Given the description of an element on the screen output the (x, y) to click on. 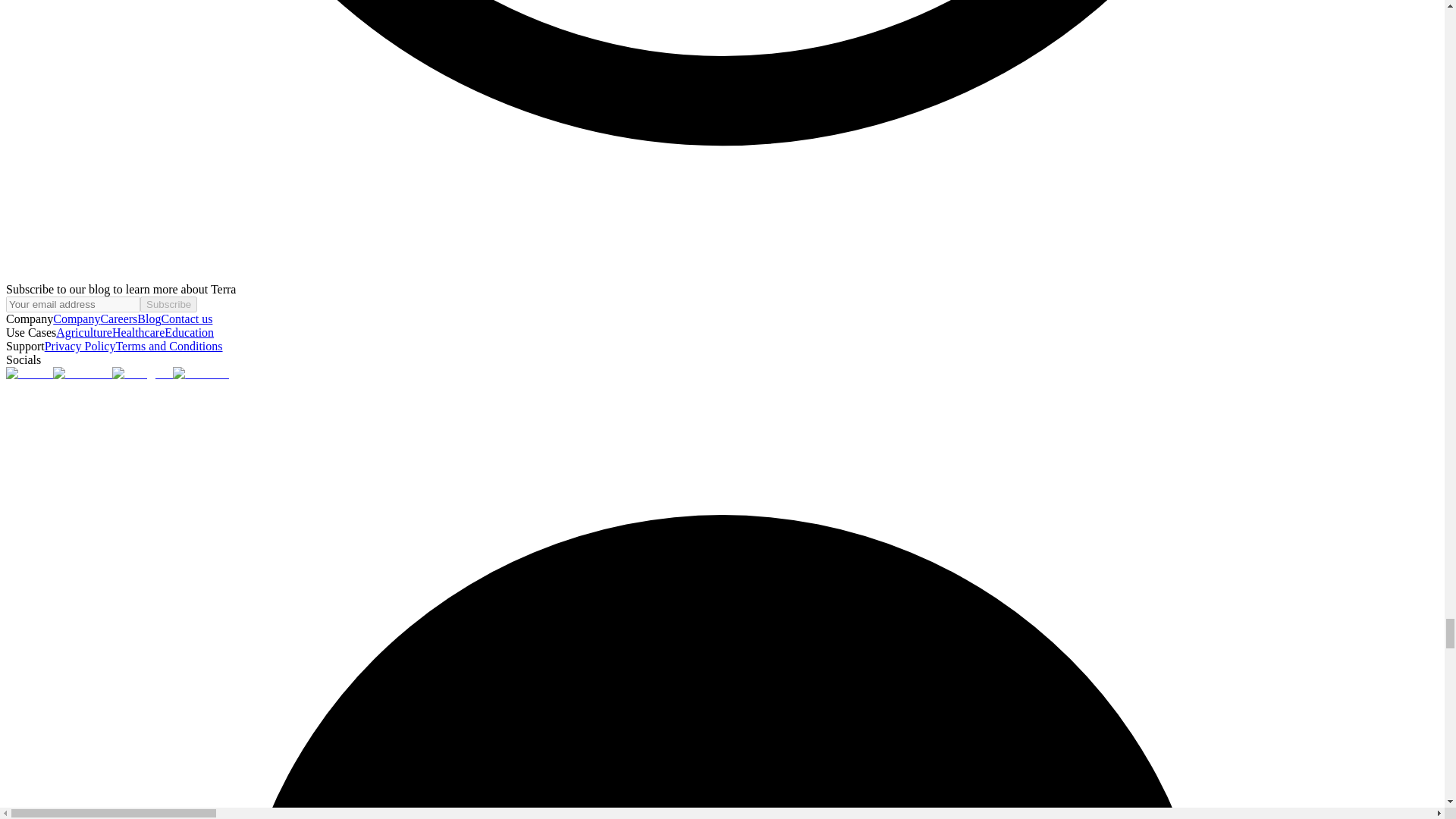
Terms and Conditions (168, 345)
Education (189, 332)
Agriculture (84, 332)
Blog (148, 318)
Company (76, 318)
Careers (118, 318)
Healthcare (138, 332)
Privacy Policy (80, 345)
Subscribe (167, 304)
Contact us (186, 318)
